Given the description of an element on the screen output the (x, y) to click on. 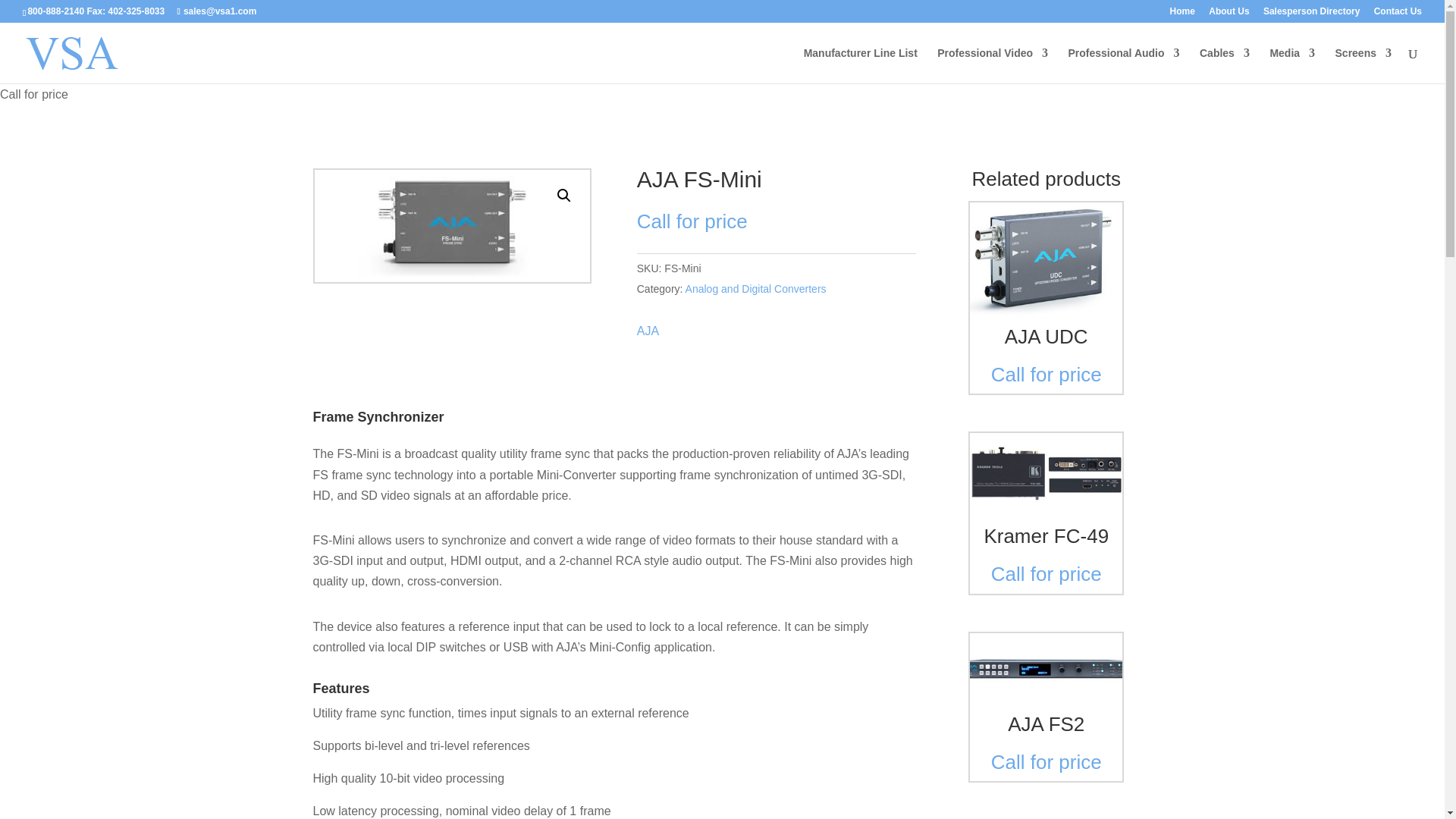
Manufacturer Line List (860, 65)
Professional Audio (1123, 65)
Salesperson Directory (1311, 14)
Home (1182, 14)
About Us (1228, 14)
Contact Us (1398, 14)
Professional Video (992, 65)
